Given the description of an element on the screen output the (x, y) to click on. 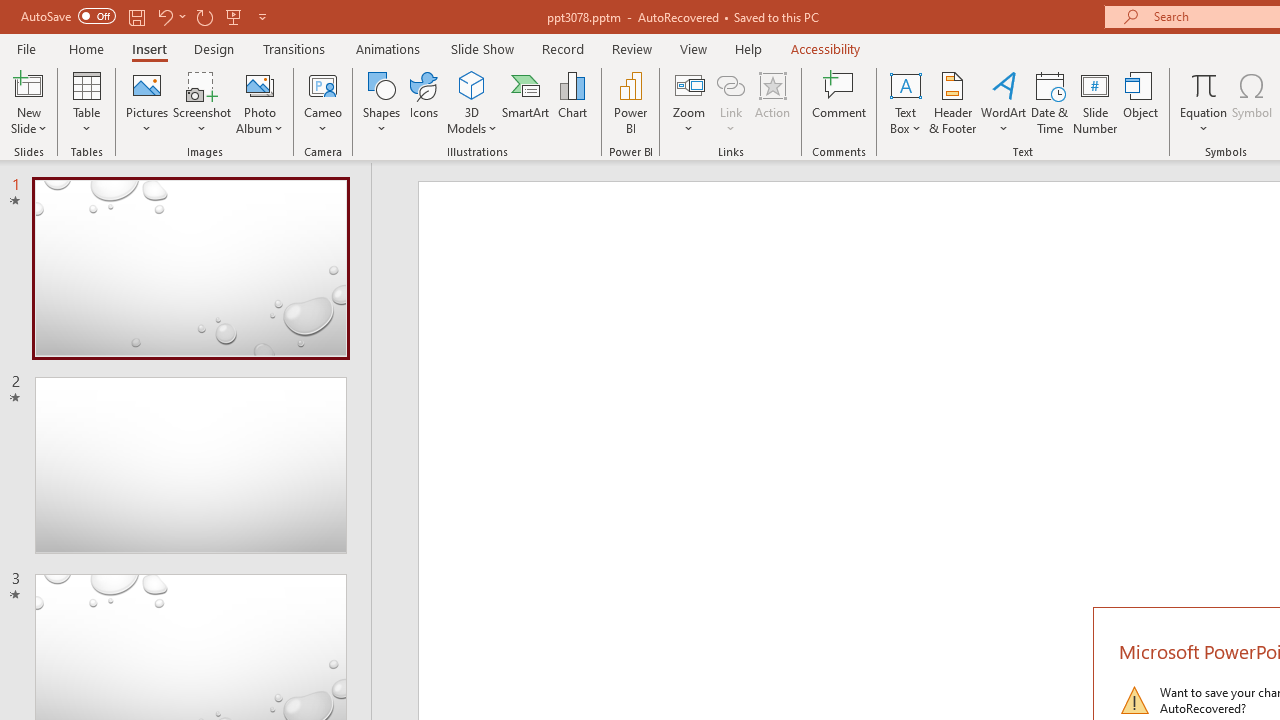
Photo Album... (259, 102)
Header & Footer... (952, 102)
